Given the description of an element on the screen output the (x, y) to click on. 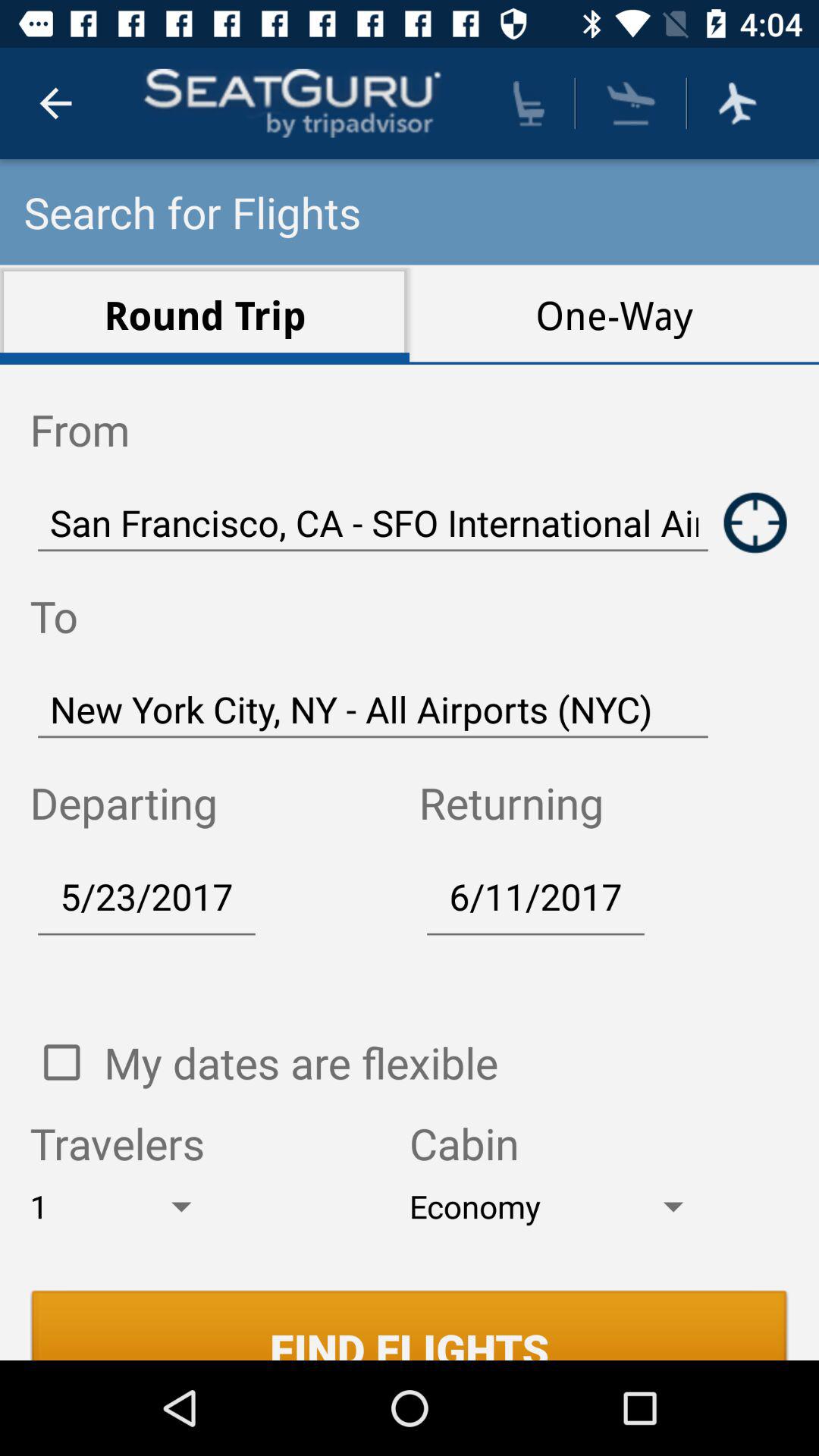
my dates are flexible checkbox (61, 1062)
